Given the description of an element on the screen output the (x, y) to click on. 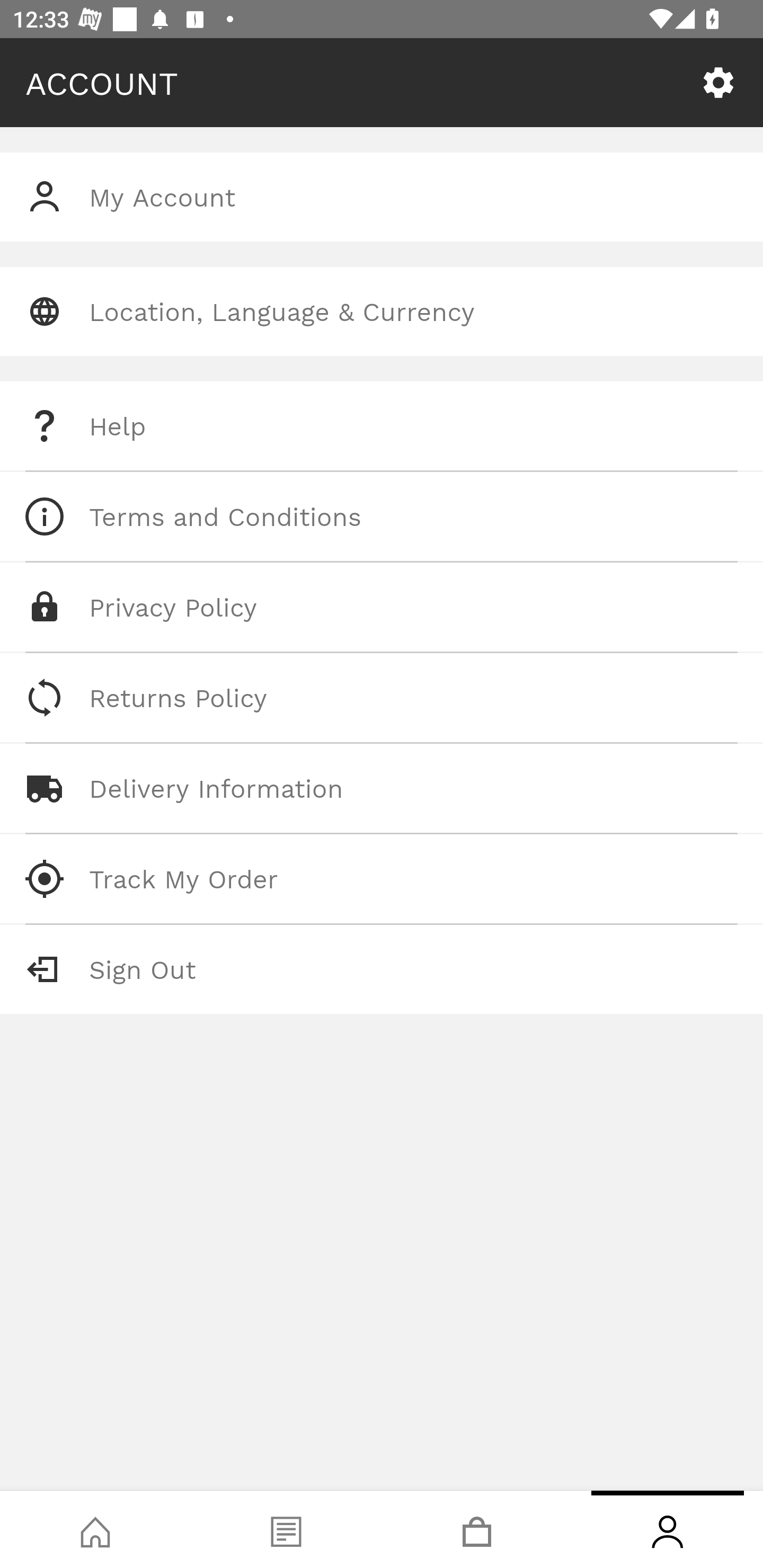
SETTINGS (718, 82)
My Account (381, 196)
Location, Language & Currency (381, 310)
Help (381, 425)
Terms and Conditions (381, 516)
Privacy Policy (381, 607)
Returns Policy (381, 697)
Delivery Information (381, 787)
Track My Order (381, 878)
Sign Out (381, 969)
Shop, tab, 1 of 4 (95, 1529)
Blog, tab, 2 of 4 (285, 1529)
Basket, tab, 3 of 4 (476, 1529)
Account, tab, 4 of 4 (667, 1529)
